Given the description of an element on the screen output the (x, y) to click on. 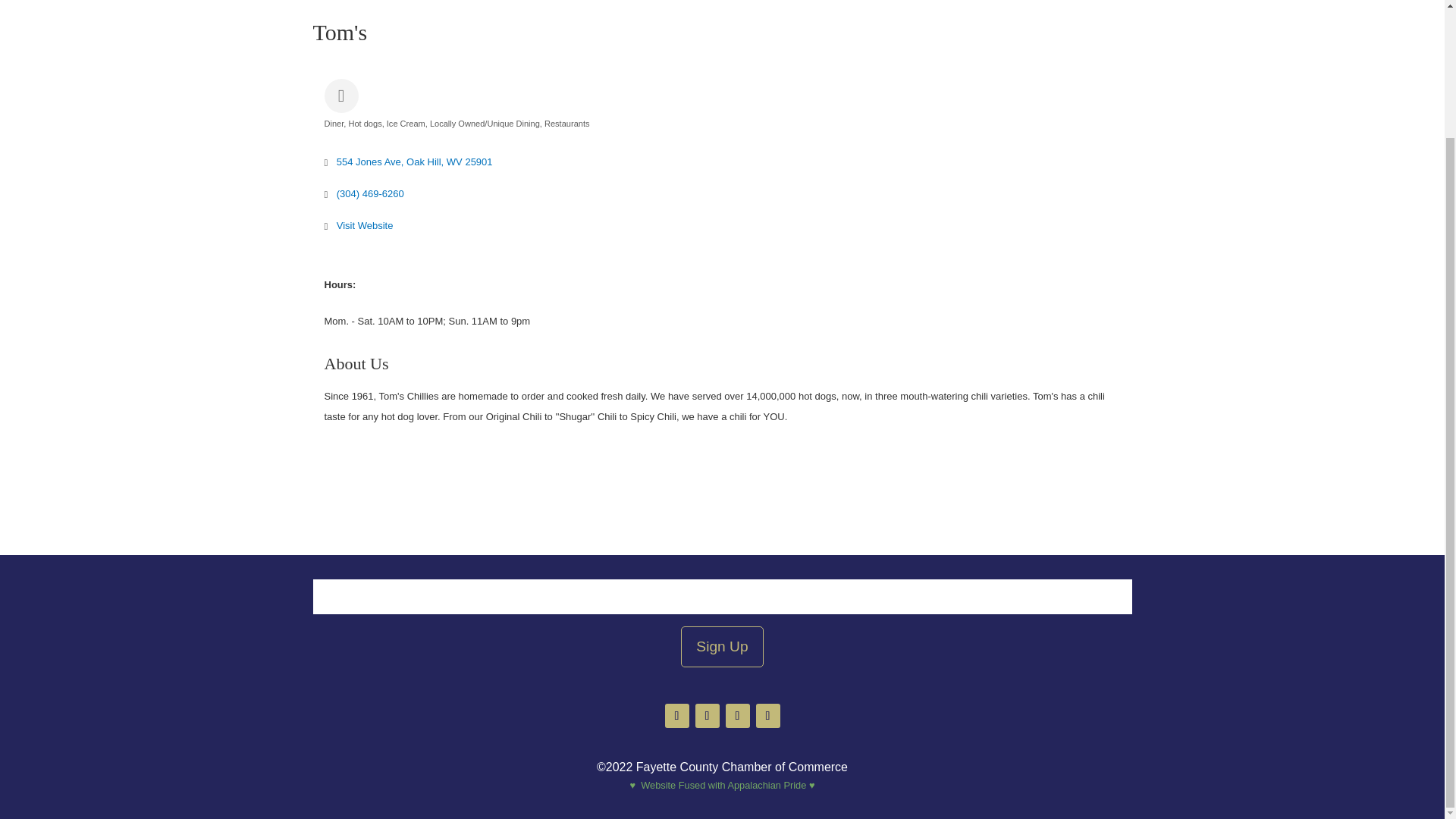
Follow on Pinterest (737, 715)
Follow on Youtube (766, 715)
Follow on X (706, 715)
Follow on Facebook (675, 715)
